Given the description of an element on the screen output the (x, y) to click on. 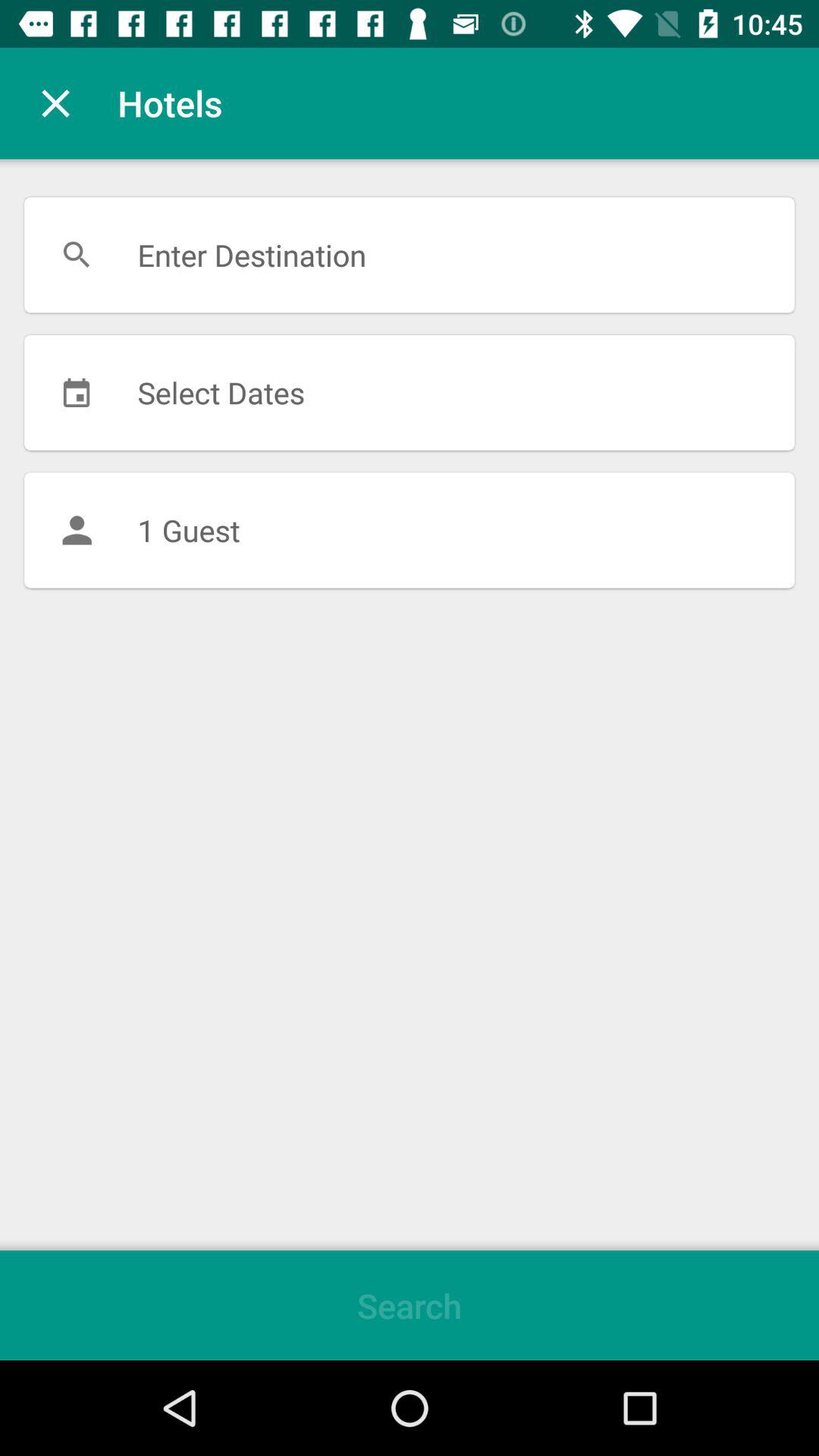
press the 1 guest item (409, 530)
